Given the description of an element on the screen output the (x, y) to click on. 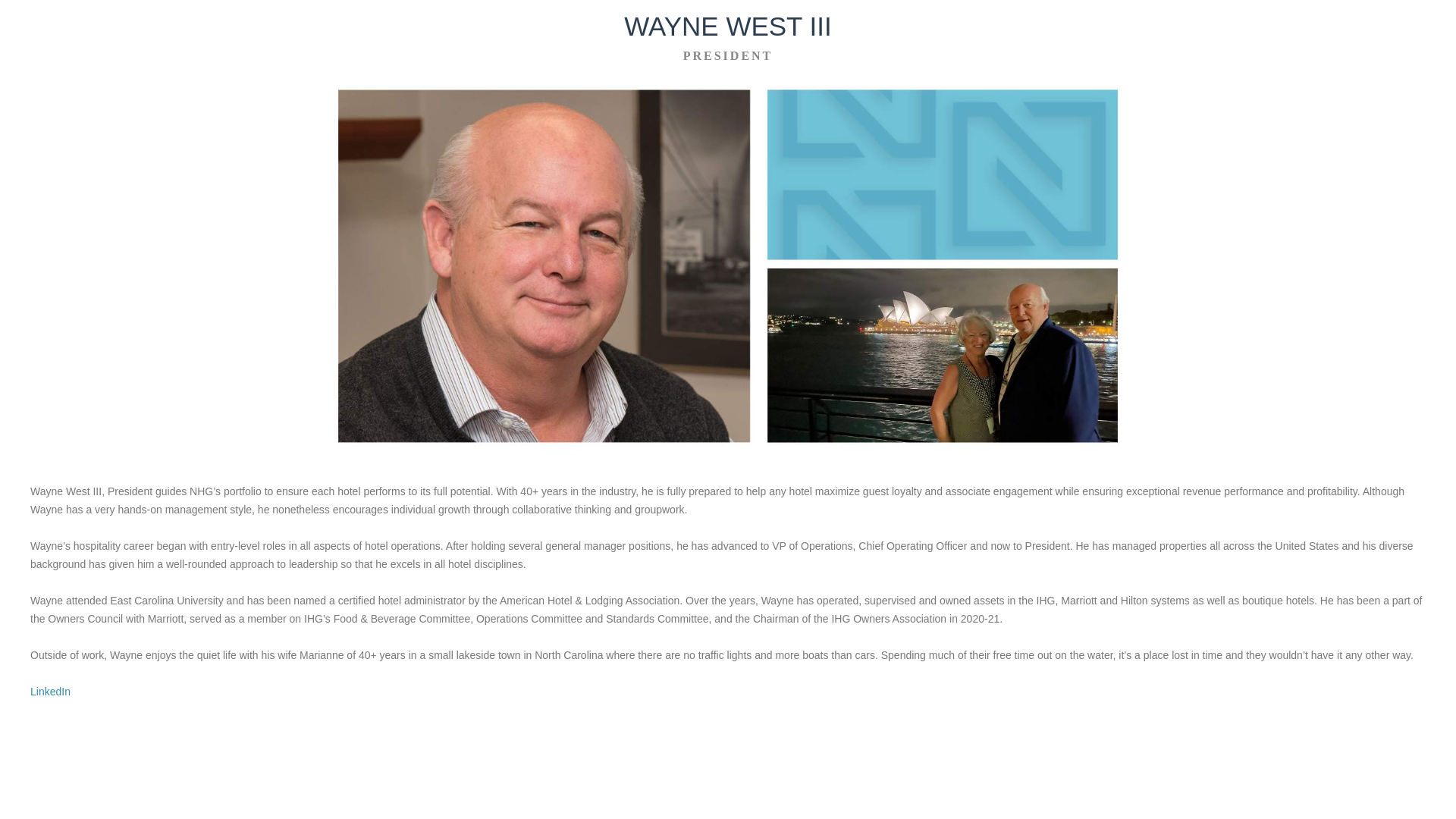
LinkedIn (49, 691)
